Given the description of an element on the screen output the (x, y) to click on. 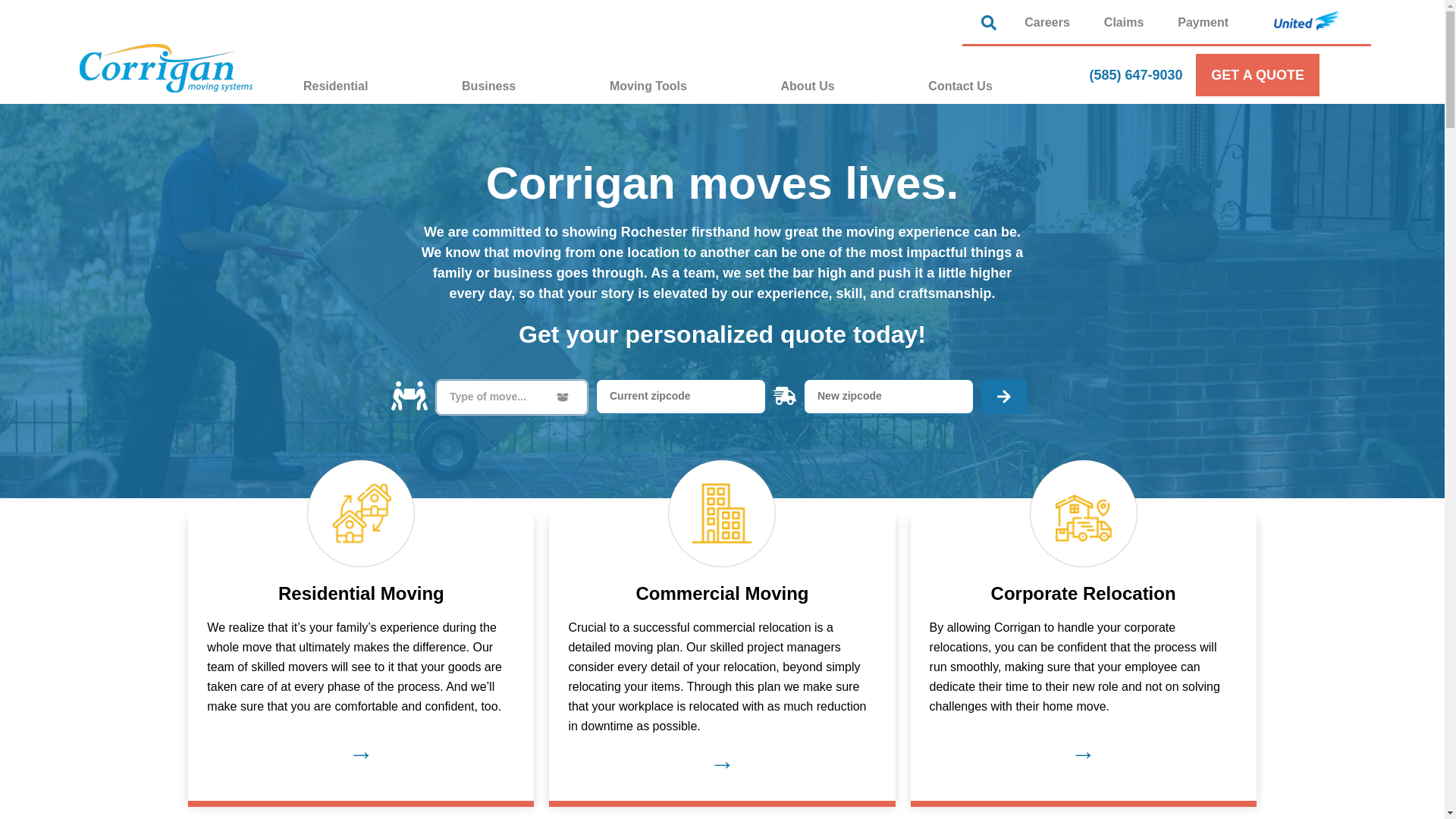
Corrigan Moving Home (165, 68)
Claims (1123, 21)
Payment (1203, 21)
Corrigan Moving Payment Portal (1203, 21)
Open Search (992, 22)
Residential (372, 86)
Careers (1046, 21)
